Given the description of an element on the screen output the (x, y) to click on. 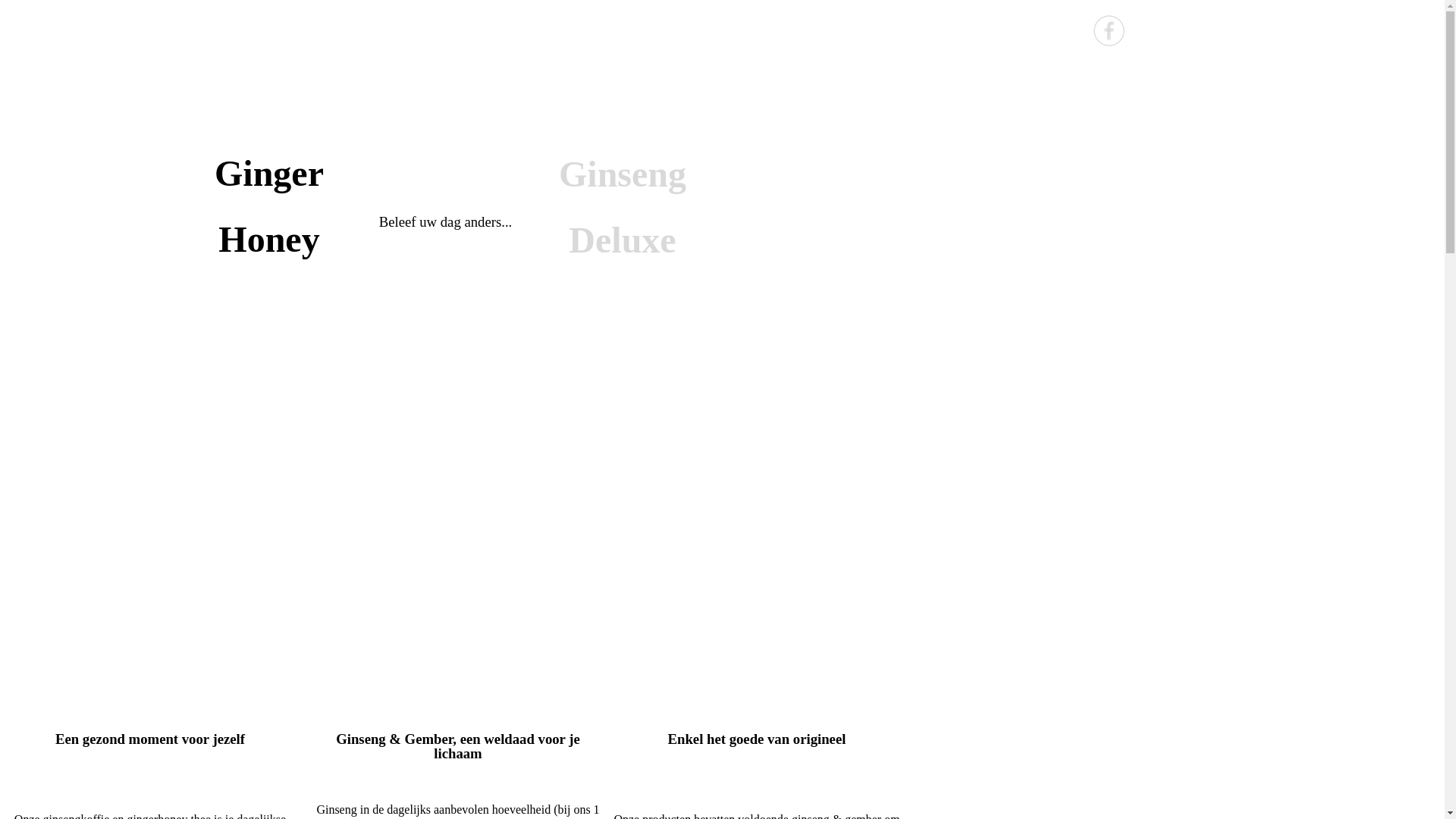
Ginseng & Gember, een weldaad voor je lichaam Element type: text (457, 746)
Een gezond moment voor jezelf Element type: text (149, 738)
Enkel het goede van origineel Element type: text (757, 738)
